Given the description of an element on the screen output the (x, y) to click on. 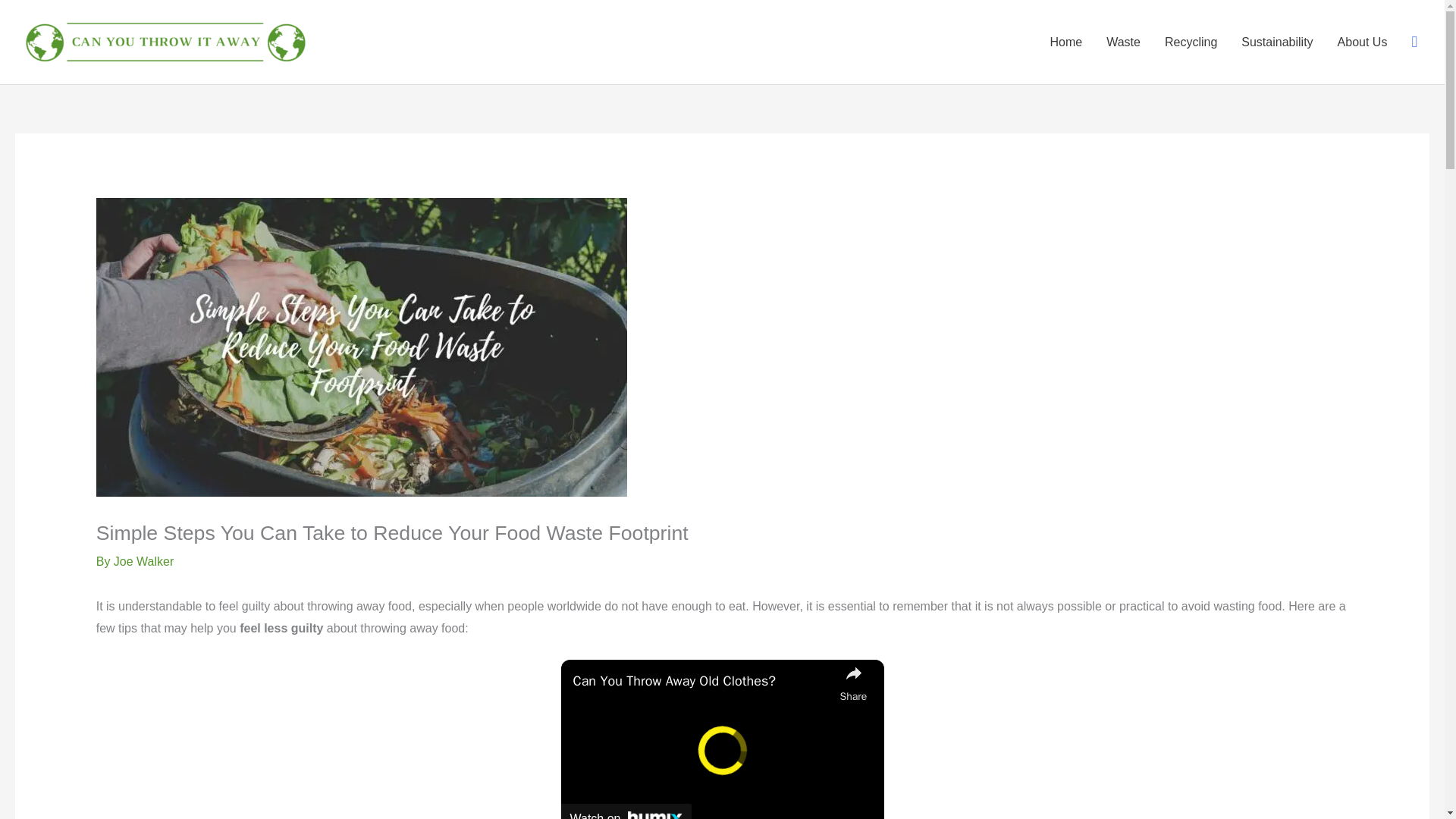
About Us (1361, 42)
Can You Throw Away Old Clothes? (702, 681)
Search (1413, 41)
Home (1065, 42)
View all posts by Joe Walker (143, 561)
Joe Walker (143, 561)
share (853, 683)
Waste (1123, 42)
Recycling (1190, 42)
Share (853, 683)
Watch on (625, 811)
Sustainability (1276, 42)
